Given the description of an element on the screen output the (x, y) to click on. 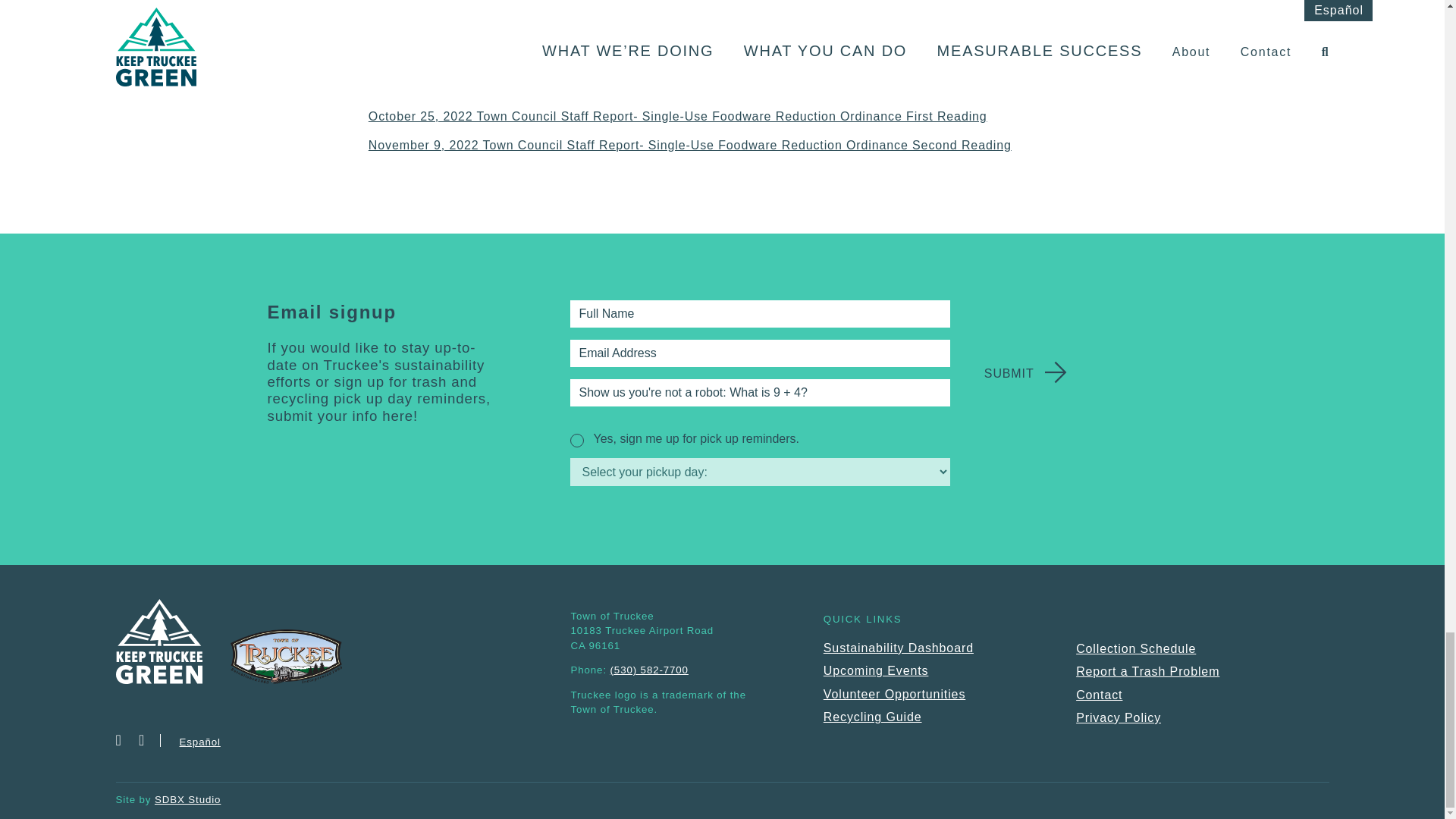
Submit (1009, 373)
Spanish (200, 741)
